Given the description of an element on the screen output the (x, y) to click on. 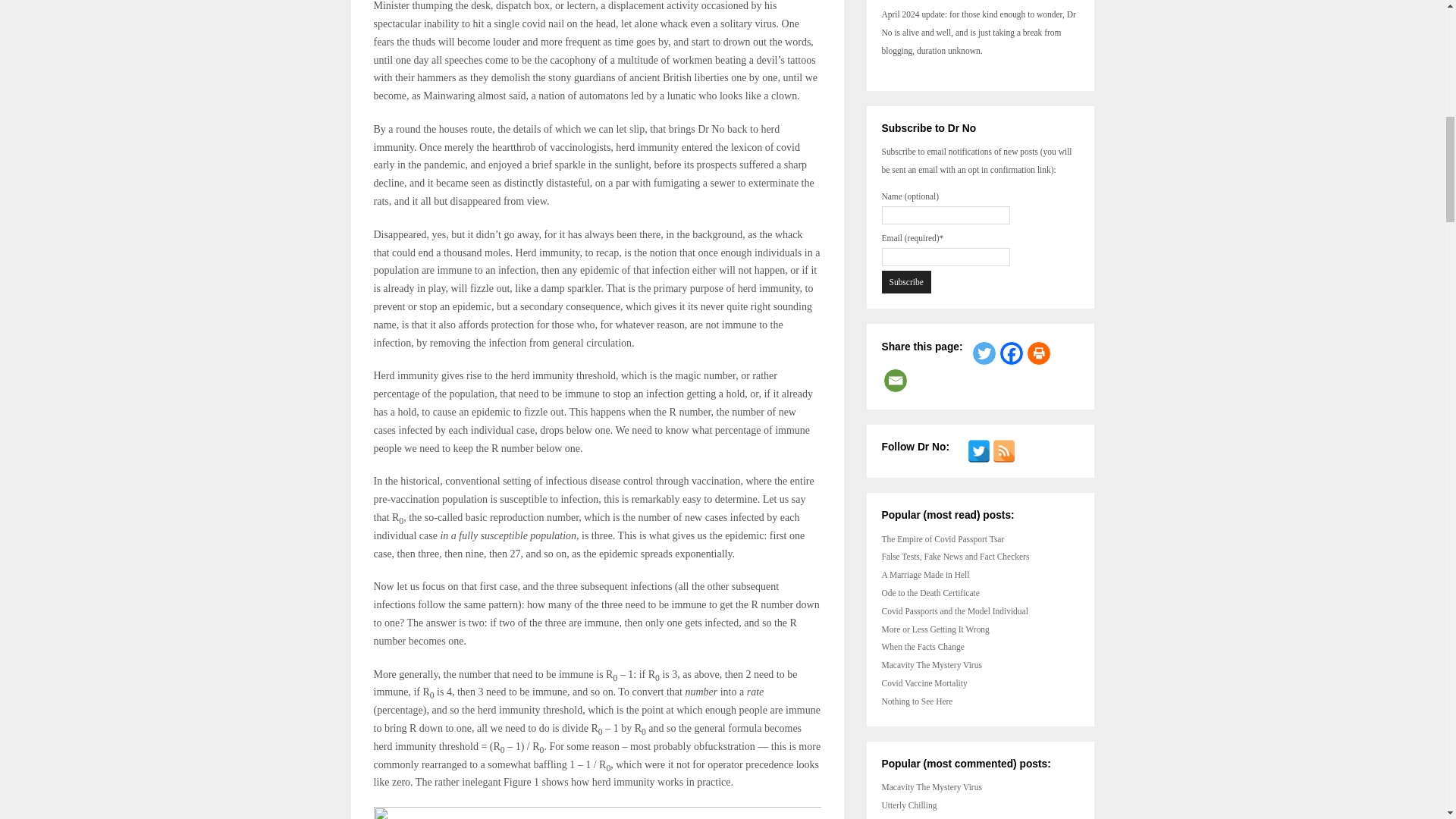
Twitter (983, 353)
Subscribe (905, 282)
Twitter (979, 450)
RSS Feed (1003, 450)
Macavity The Mystery Virus (930, 786)
Facebook (1010, 353)
Utterly Chilling (908, 804)
Print (1038, 353)
Email (894, 380)
